Given the description of an element on the screen output the (x, y) to click on. 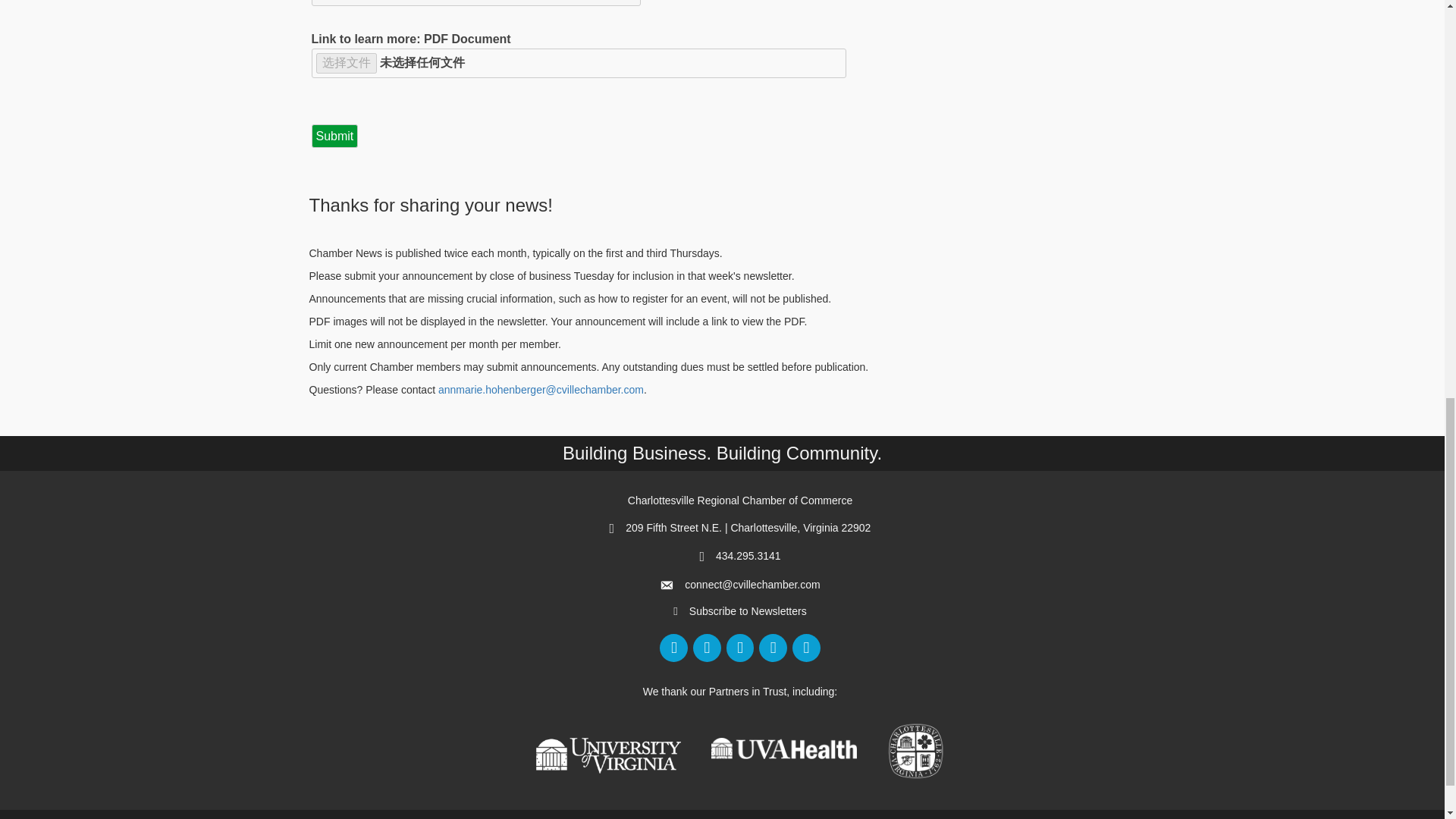
CitySealWhite (915, 750)
Submit (334, 136)
UVA Health (784, 748)
University of Virginia (608, 755)
